Given the description of an element on the screen output the (x, y) to click on. 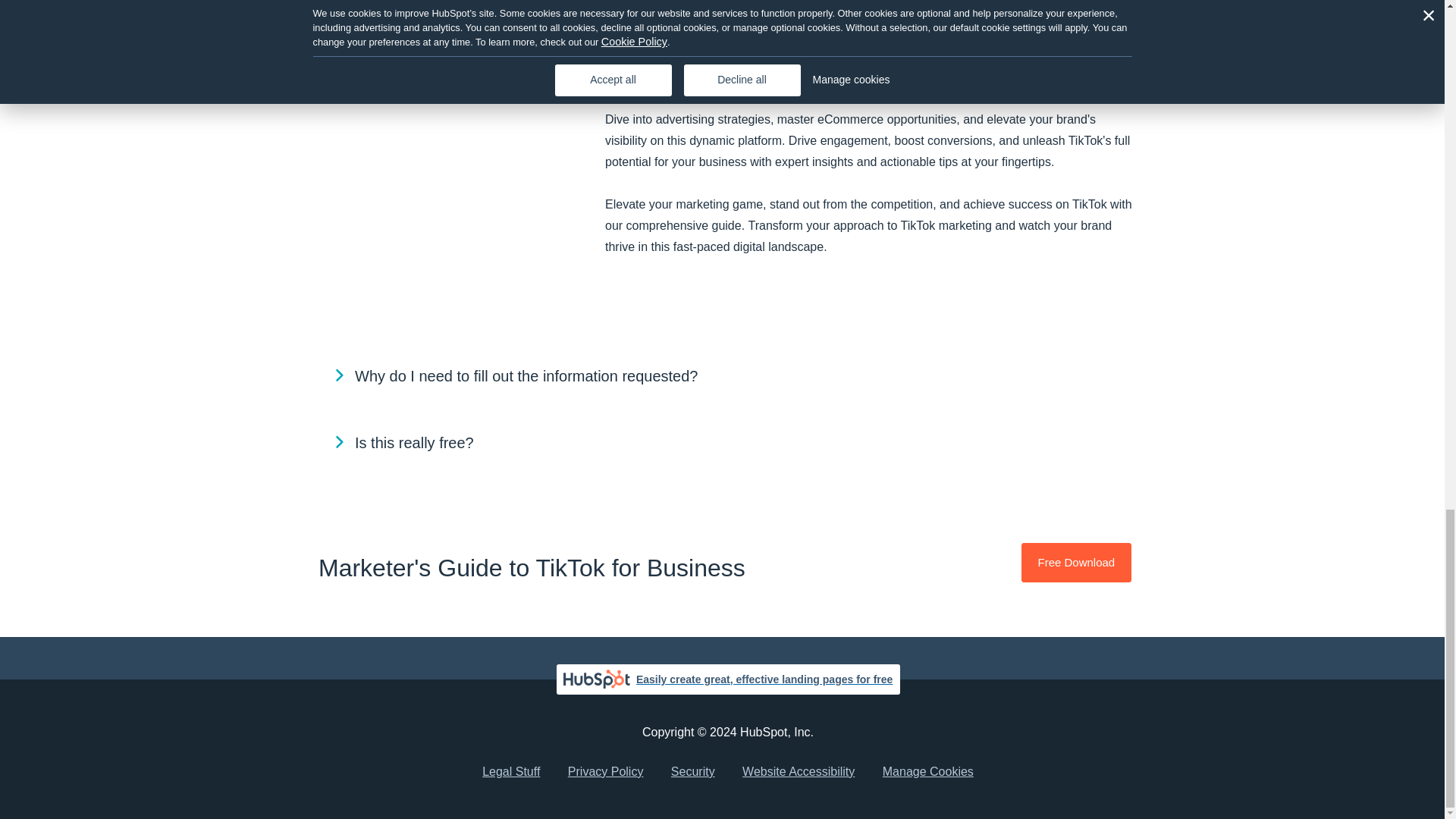
Is this really free? (727, 442)
Manage Cookies (927, 771)
Why do I need to fill out the information requested? (727, 376)
Security (692, 771)
Privacy Policy (606, 771)
Legal Stuff (510, 771)
Free Download (1076, 562)
Website Accessibility (798, 771)
